Given the description of an element on the screen output the (x, y) to click on. 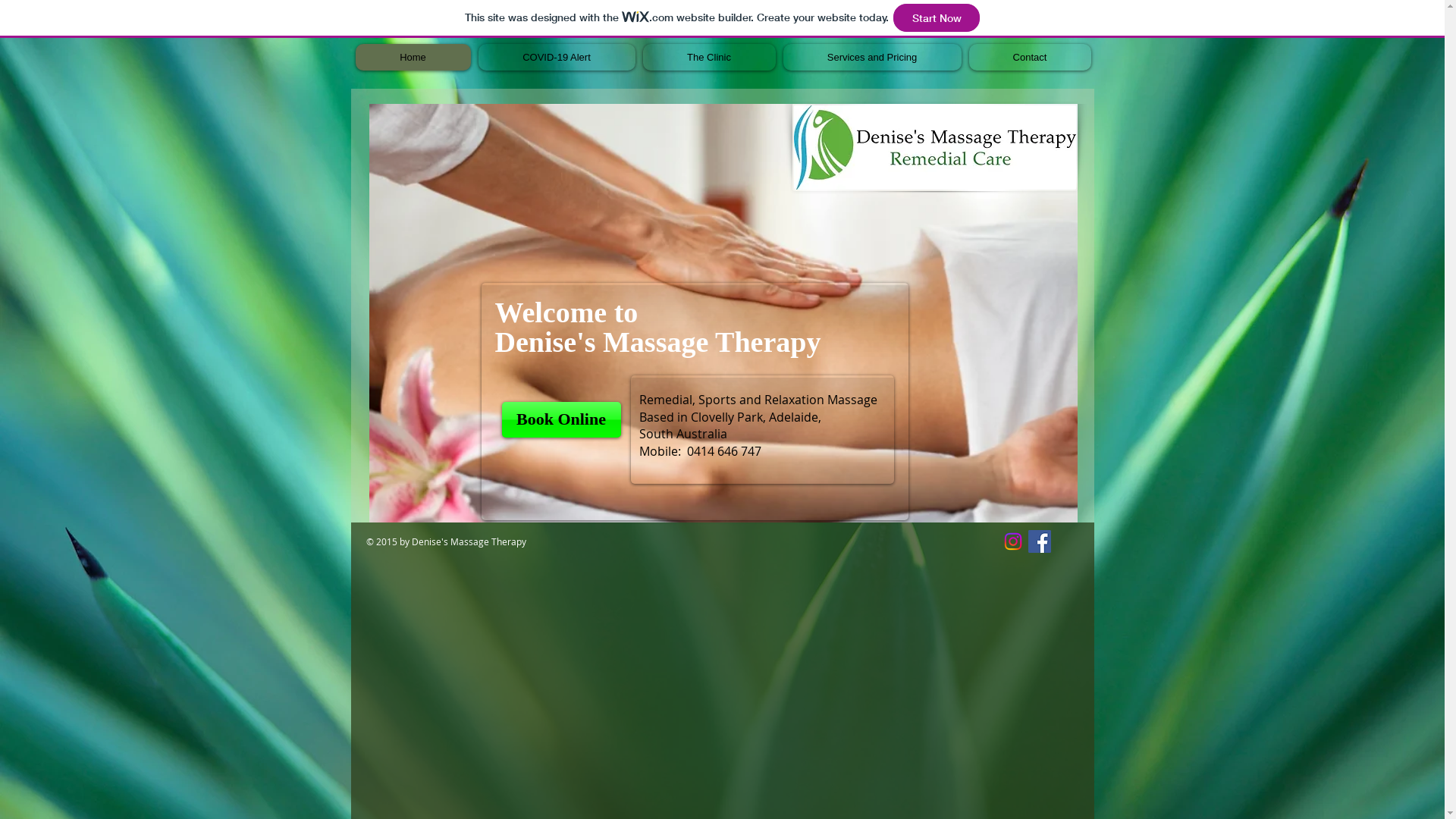
Home Element type: text (412, 56)
Services and Pricing Element type: text (871, 56)
massage16.jpg Element type: hover (722, 312)
Contact Element type: text (1030, 56)
COVID-19 Alert Element type: text (555, 56)
Book Online Element type: text (561, 419)
The Clinic Element type: text (709, 56)
